Given the description of an element on the screen output the (x, y) to click on. 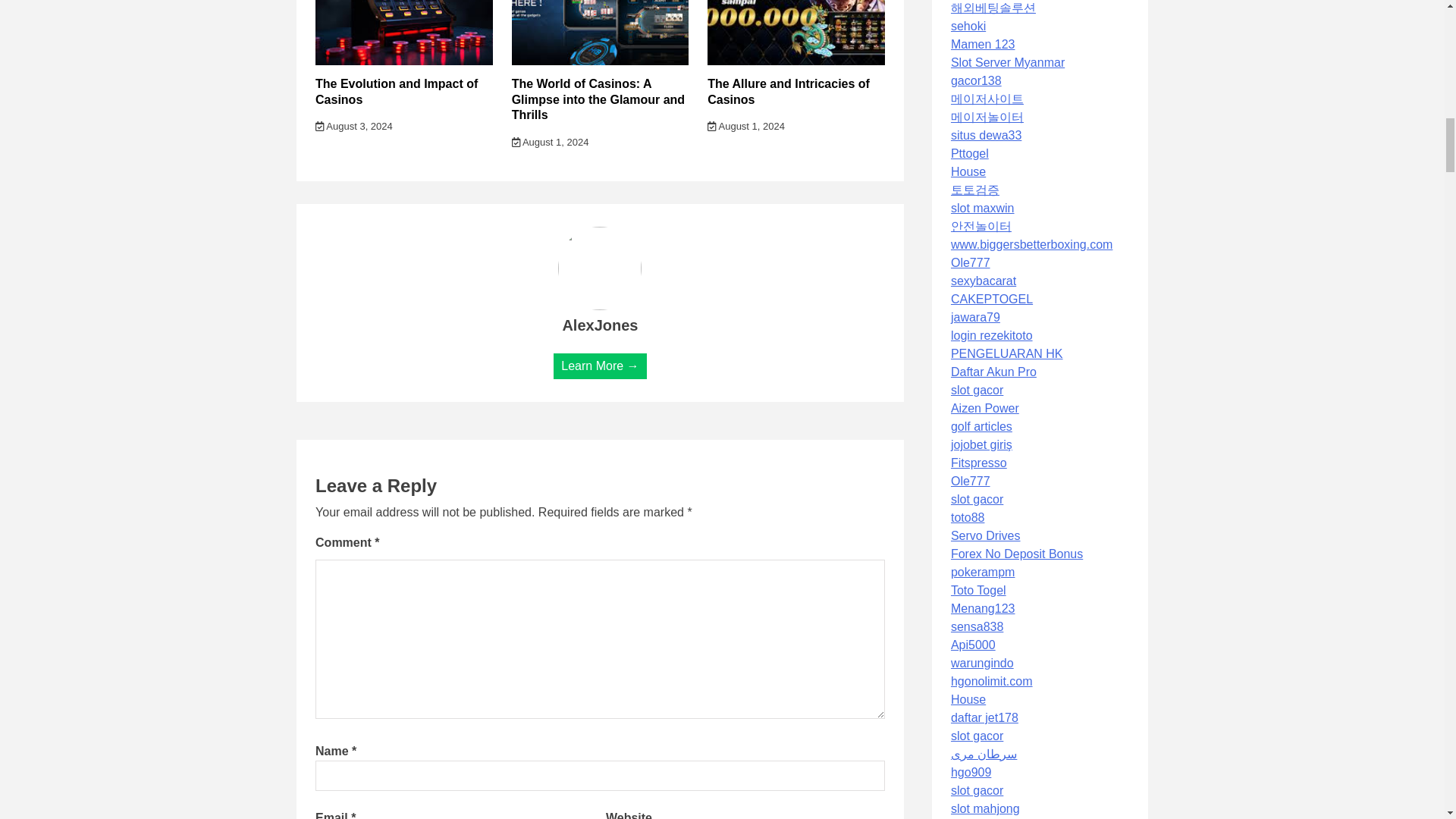
August 1, 2024 (550, 142)
The Allure and Intricacies of Casinos (788, 91)
The World of Casinos: A Glimpse into the Glamour and Thrills (598, 99)
August 3, 2024 (354, 125)
August 1, 2024 (745, 125)
The Evolution and Impact of Casinos (396, 91)
